Given the description of an element on the screen output the (x, y) to click on. 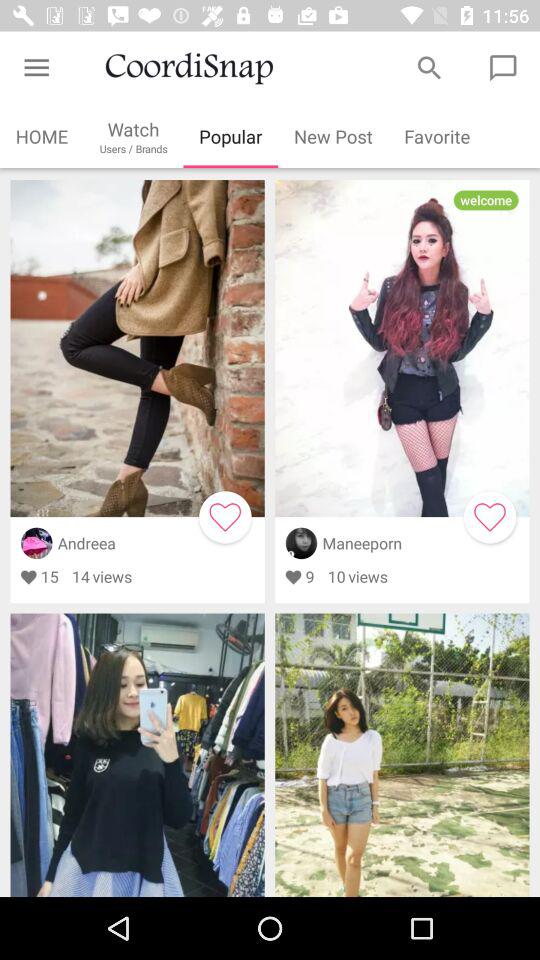
like (489, 517)
